Given the description of an element on the screen output the (x, y) to click on. 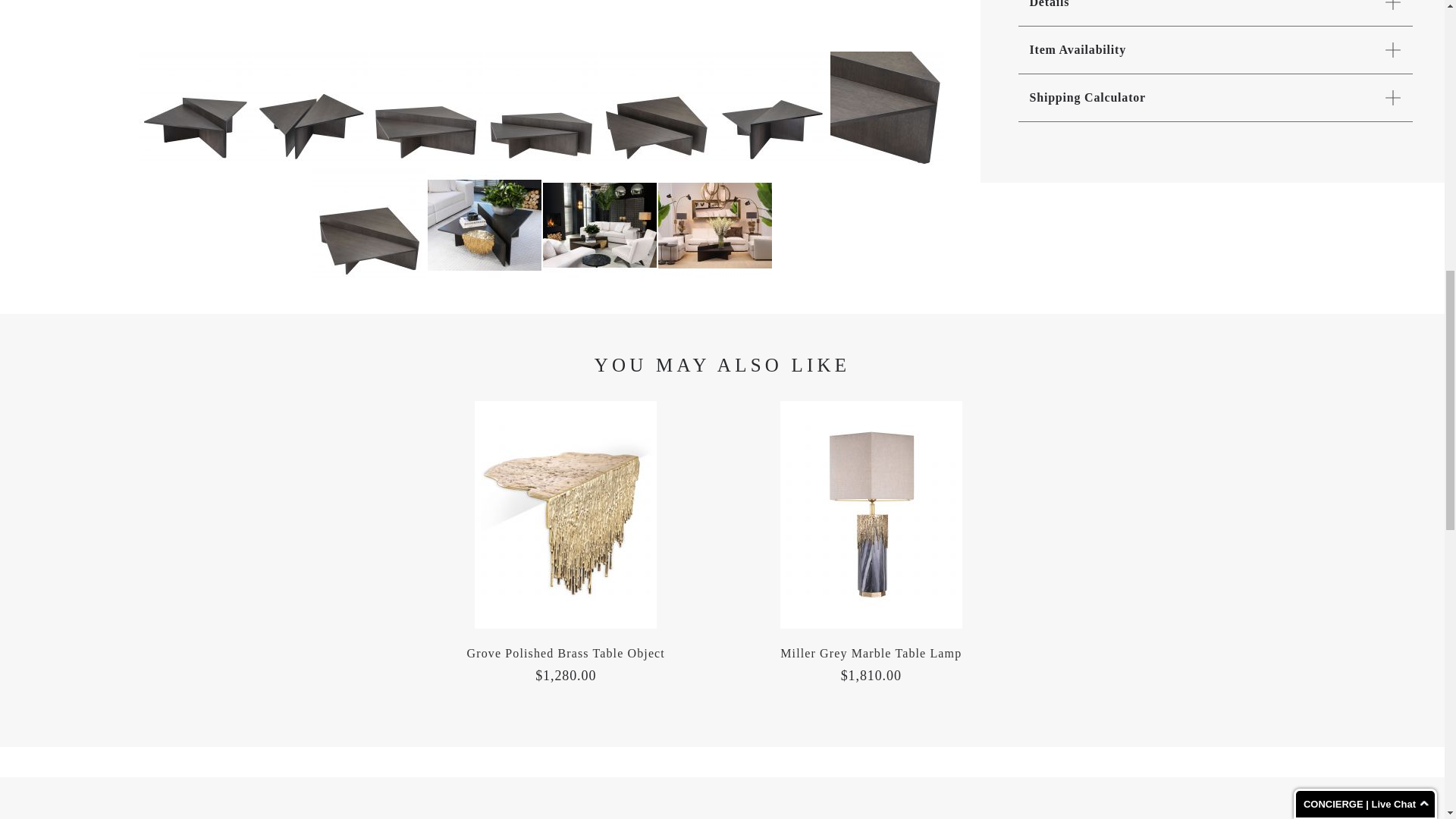
Miller Grey Marble Table Lamp (870, 653)
Grove Polished Brass Table Object (566, 653)
